Given the description of an element on the screen output the (x, y) to click on. 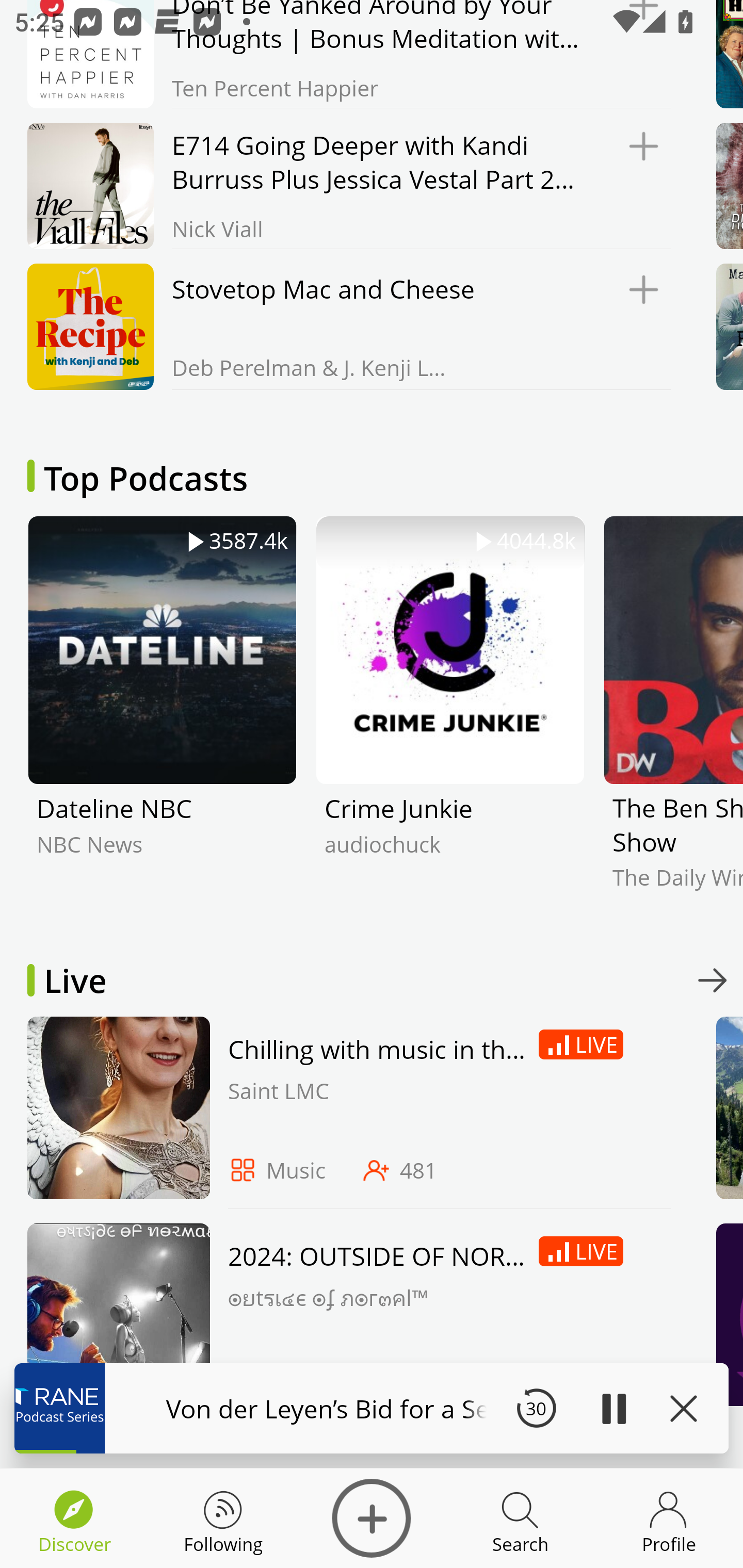
3587.4k Dateline NBC NBC News (162, 717)
4044.8k Crime Junkie audiochuck (450, 717)
The Ben Shapiro Show The Daily Wire (673, 717)
Play (613, 1407)
30 Seek Backward (536, 1407)
Discover Following (222, 1518)
Discover (371, 1518)
Discover Search (519, 1518)
Discover Profile (668, 1518)
